Given the description of an element on the screen output the (x, y) to click on. 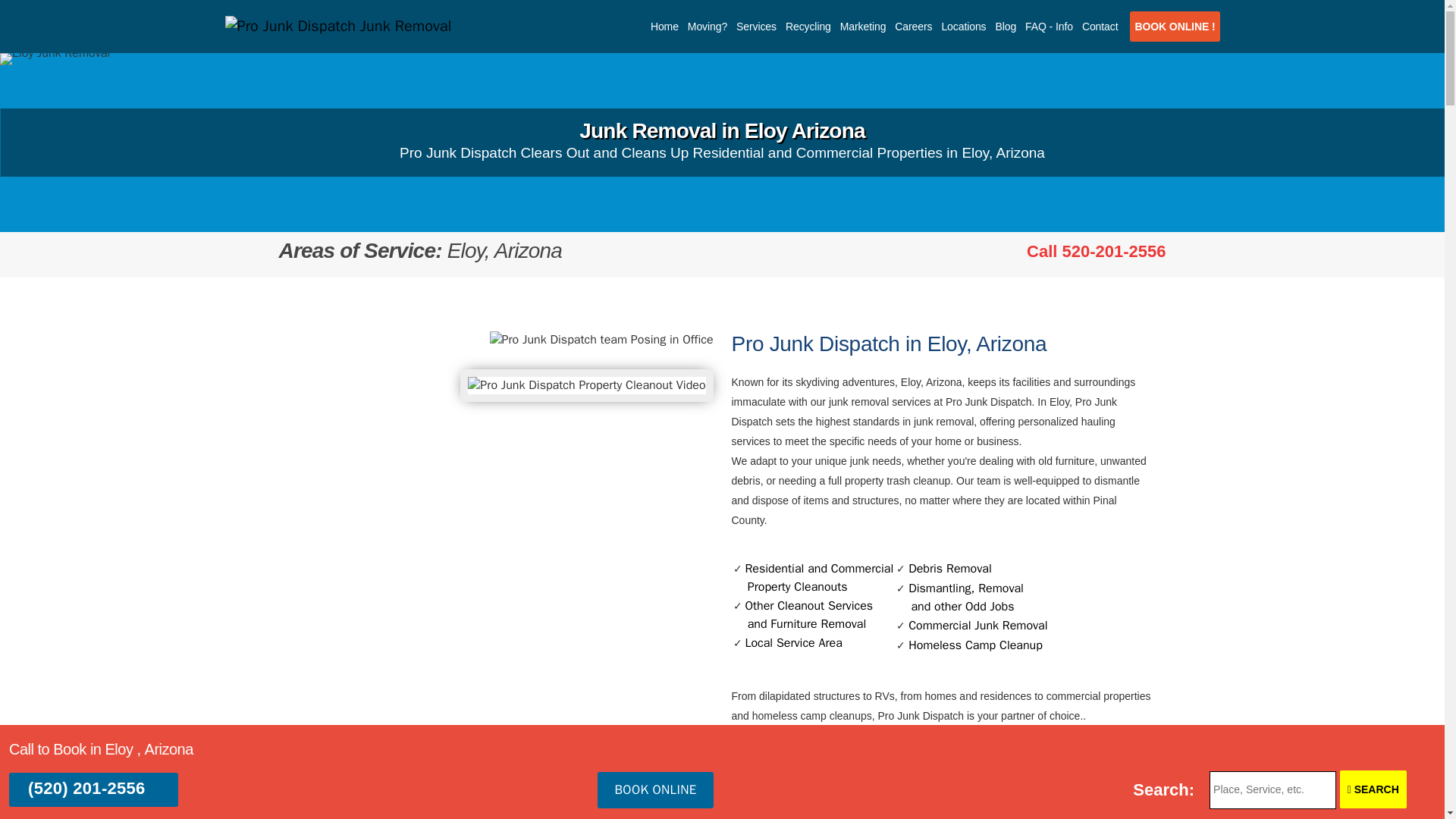
Pro Junk Dispatch team Posing in Office (601, 339)
Contact (812, 577)
Marketing (1099, 26)
Debris Removal (863, 26)
Recycling (949, 568)
Call Today for Eloy Junk Removal and Hauling Services (807, 26)
Home (1096, 250)
Moving? (664, 26)
FAQ - Info (707, 26)
